Given the description of an element on the screen output the (x, y) to click on. 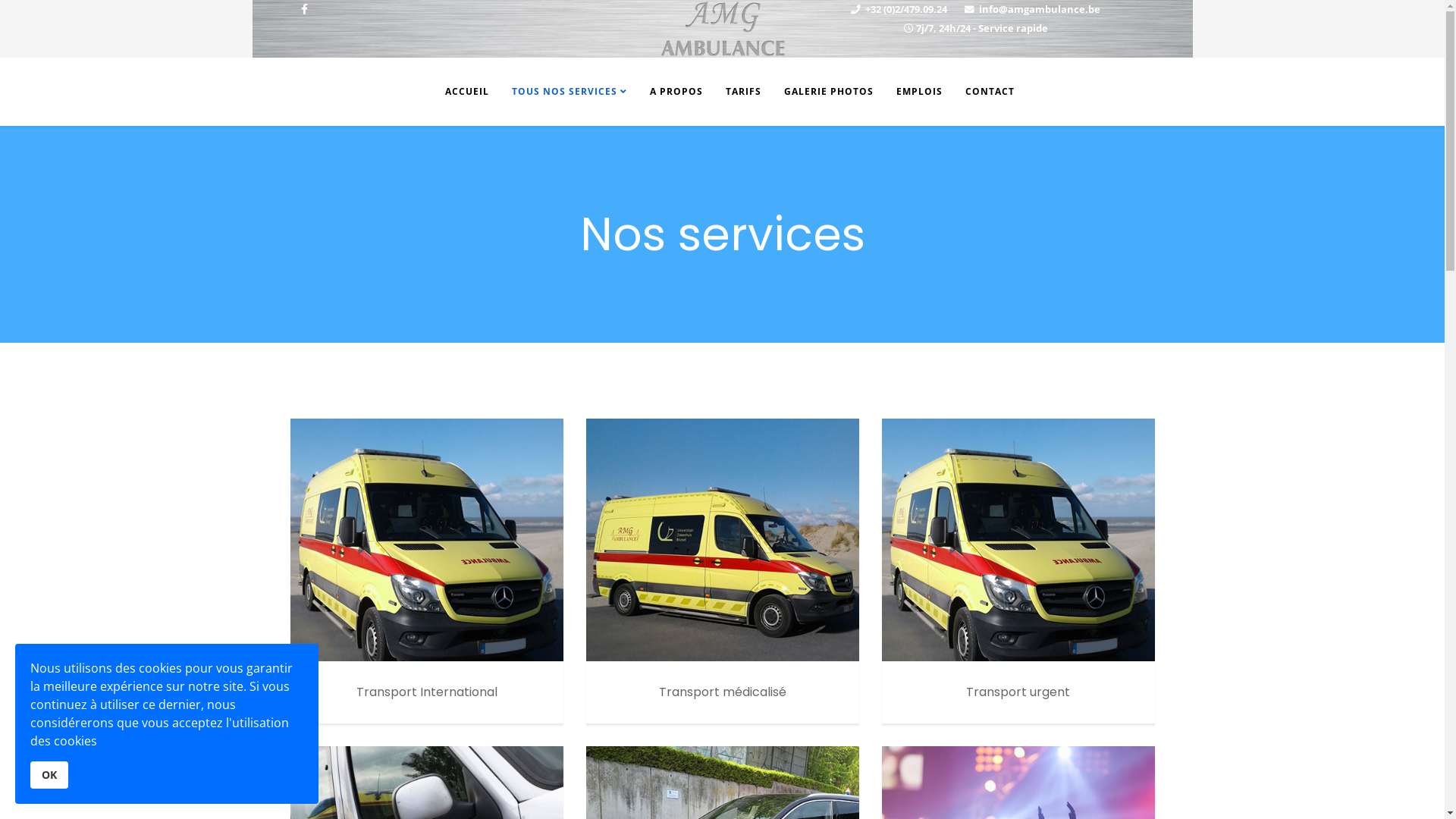
info@amgambulance.be Element type: text (1039, 9)
TOUS NOS SERVICES Element type: text (569, 91)
GALERIE PHOTOS Element type: text (827, 91)
A PROPOS Element type: text (676, 91)
EMPLOIS Element type: text (918, 91)
Transport International Element type: hover (425, 539)
+32 (0)2/479.09.24 Element type: text (906, 9)
OK Element type: text (49, 774)
CONTACT Element type: text (989, 91)
Transport urgent Element type: hover (1017, 539)
TARIFS Element type: text (743, 91)
ACCUEIL Element type: text (458, 91)
